Given the description of an element on the screen output the (x, y) to click on. 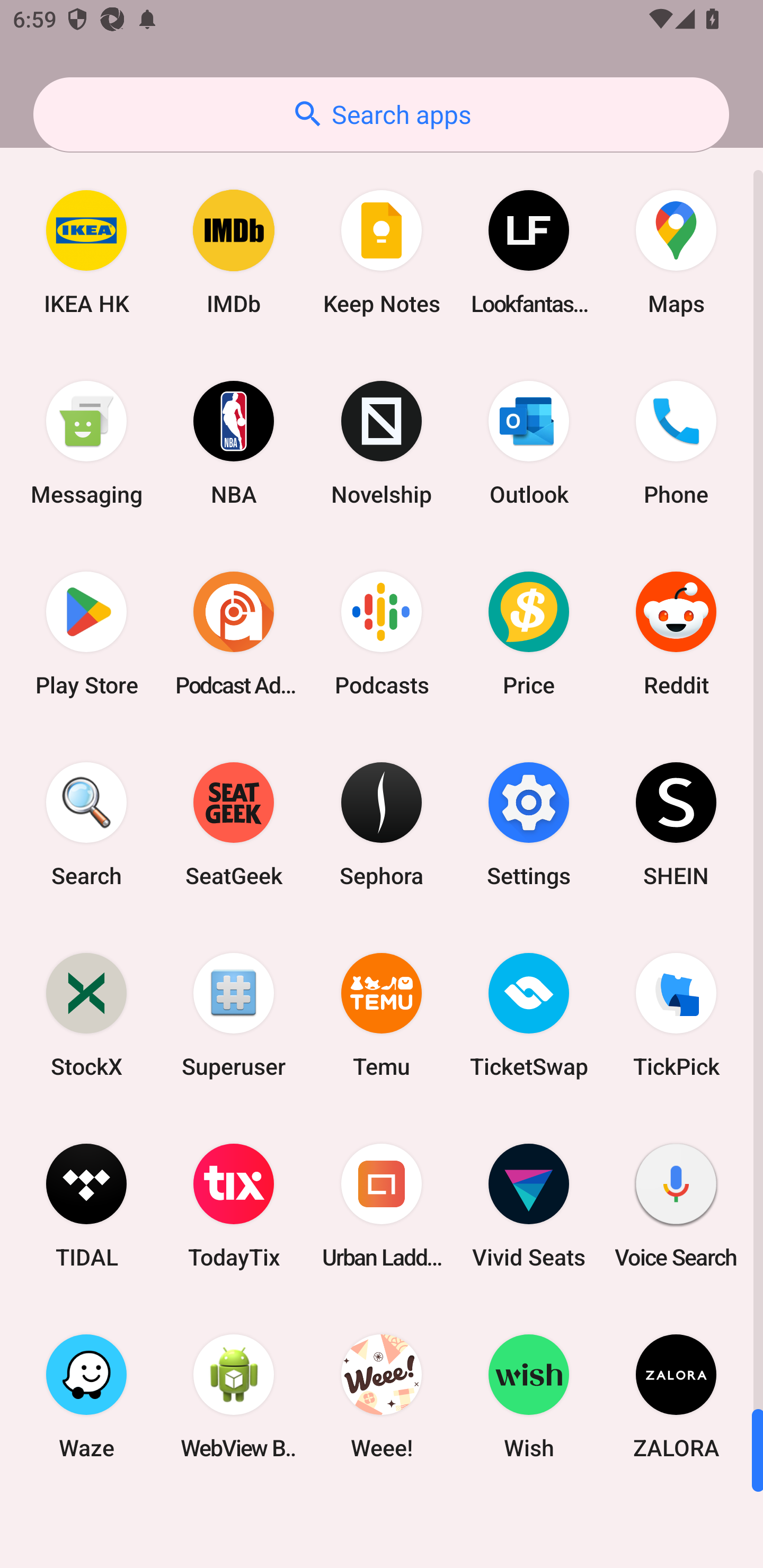
  Search apps (381, 114)
IKEA HK (86, 252)
IMDb (233, 252)
Keep Notes (381, 252)
Lookfantastic (528, 252)
Maps (676, 252)
Messaging (86, 442)
NBA (233, 442)
Novelship (381, 442)
Outlook (528, 442)
Phone (676, 442)
Play Store (86, 633)
Podcast Addict (233, 633)
Podcasts (381, 633)
Price (528, 633)
Reddit (676, 633)
Search (86, 823)
SeatGeek (233, 823)
Sephora (381, 823)
Settings (528, 823)
SHEIN (676, 823)
StockX (86, 1014)
Superuser (233, 1014)
Temu (381, 1014)
TicketSwap (528, 1014)
TickPick (676, 1014)
TIDAL (86, 1205)
TodayTix (233, 1205)
Urban Ladder (381, 1205)
Vivid Seats (528, 1205)
Voice Search (676, 1205)
Waze (86, 1396)
WebView Browser Tester (233, 1396)
Weee! (381, 1396)
Wish (528, 1396)
ZALORA (676, 1396)
